Given the description of an element on the screen output the (x, y) to click on. 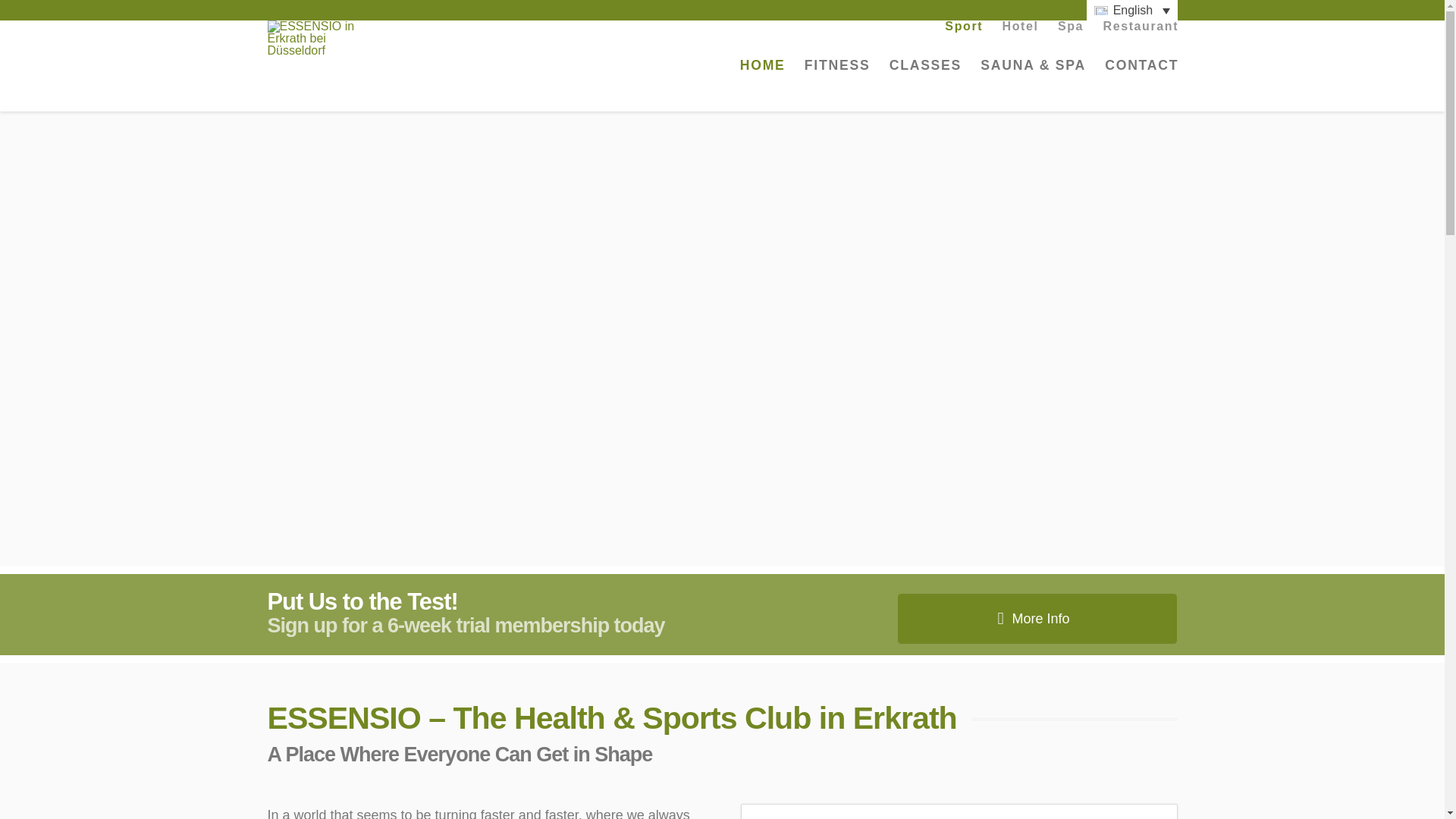
Spa (1070, 30)
CLASSES (924, 78)
Sport (962, 30)
FITNESS (837, 78)
English (1131, 10)
Hotel (1019, 30)
CONTACT (1140, 78)
Restaurant (1140, 30)
